Given the description of an element on the screen output the (x, y) to click on. 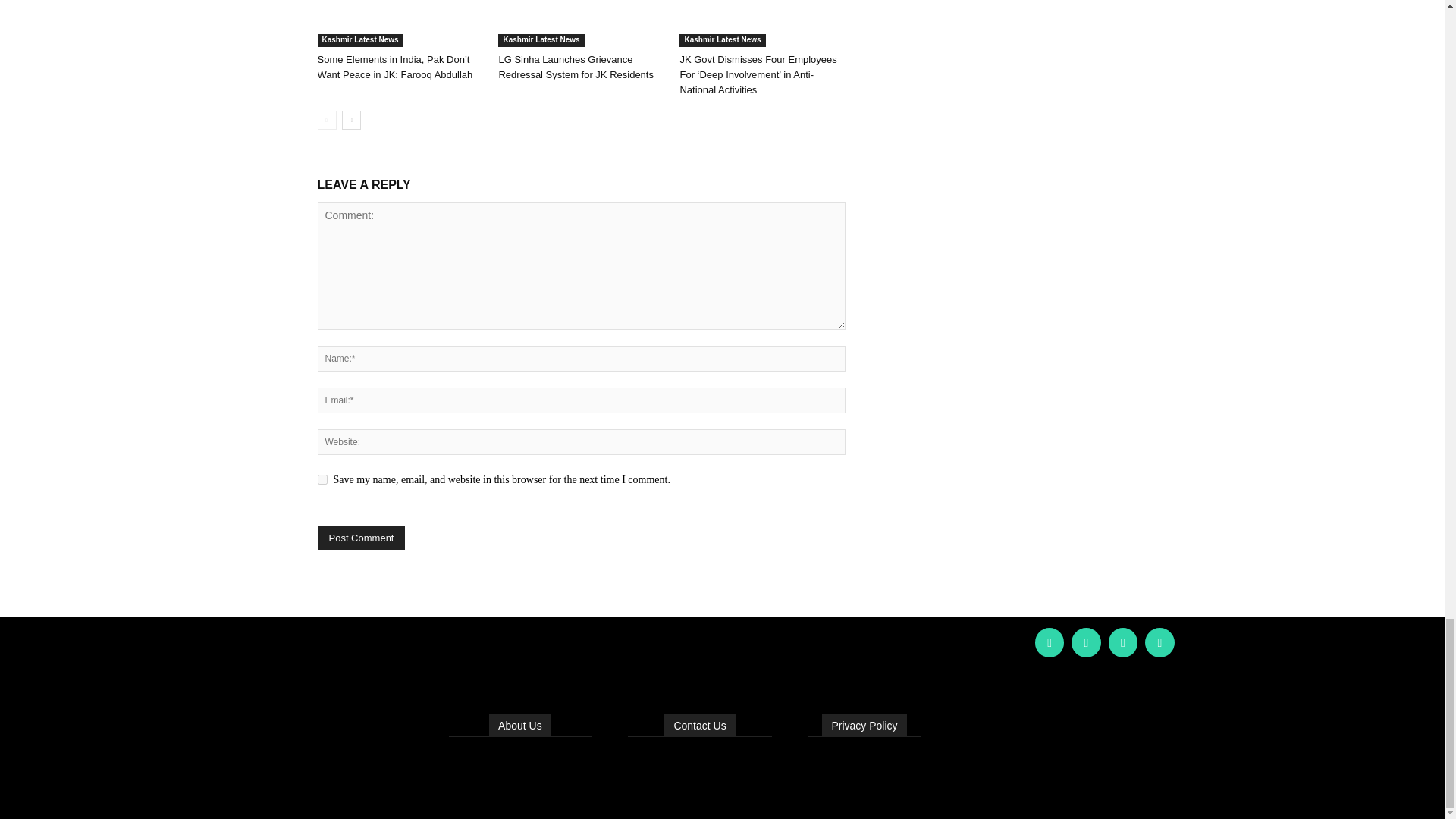
Post Comment (360, 537)
yes (321, 479)
